Given the description of an element on the screen output the (x, y) to click on. 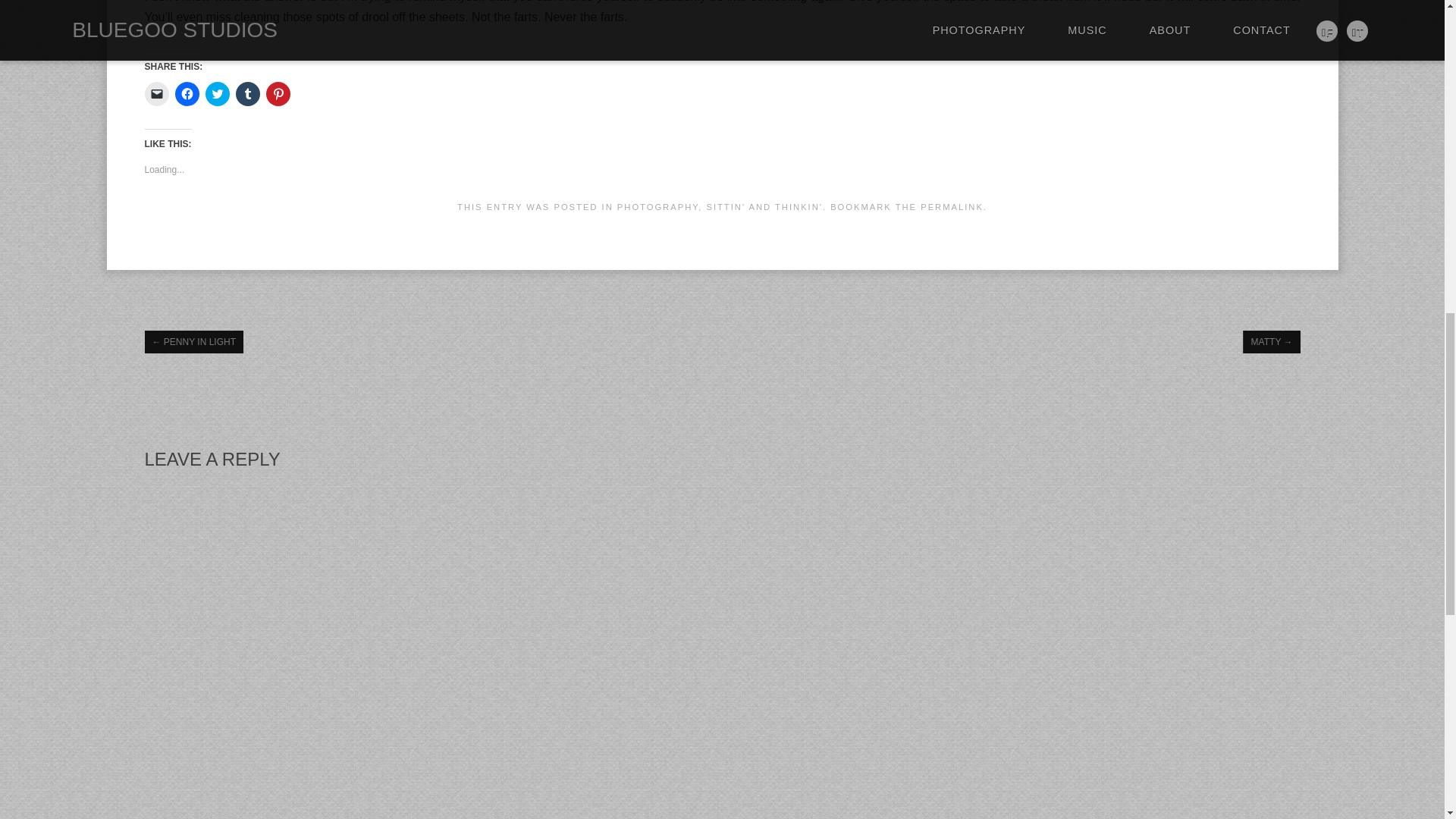
Click to share on Pinterest (276, 93)
PHOTOGRAPHY (657, 206)
Click to share on Facebook (186, 93)
Click to email a link to a friend (156, 93)
Click to share on Tumblr (246, 93)
SITTIN' AND THINKIN' (764, 206)
Click to share on Twitter (216, 93)
Permalink to What the Hell Happened? (952, 206)
PERMALINK (952, 206)
